Given the description of an element on the screen output the (x, y) to click on. 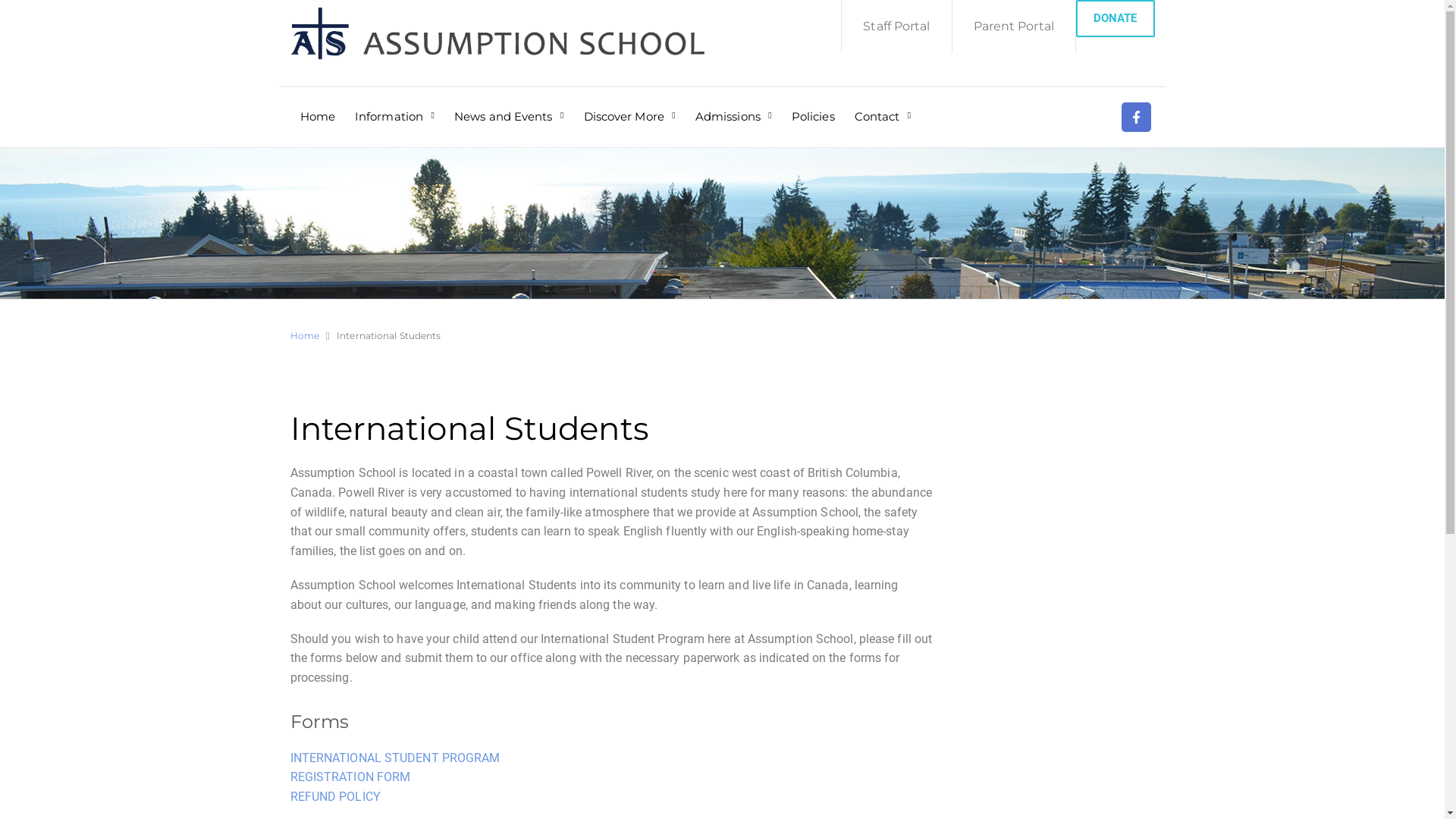
Staff Portal Element type: text (896, 26)
REGISTRATION FORM Element type: text (349, 776)
INTERNATIONAL STUDENT PROGRAM Element type: text (394, 757)
Admissions Element type: text (733, 106)
Information Element type: text (394, 106)
Contact Element type: text (882, 106)
Home Element type: text (303, 335)
DONATE Element type: text (1115, 18)
News and Events Element type: text (509, 106)
Home Element type: text (317, 106)
Parent Portal Element type: text (1013, 26)
REFUND POLICY Element type: text (334, 796)
Policies Element type: text (812, 106)
Discover More Element type: text (629, 106)
